Given the description of an element on the screen output the (x, y) to click on. 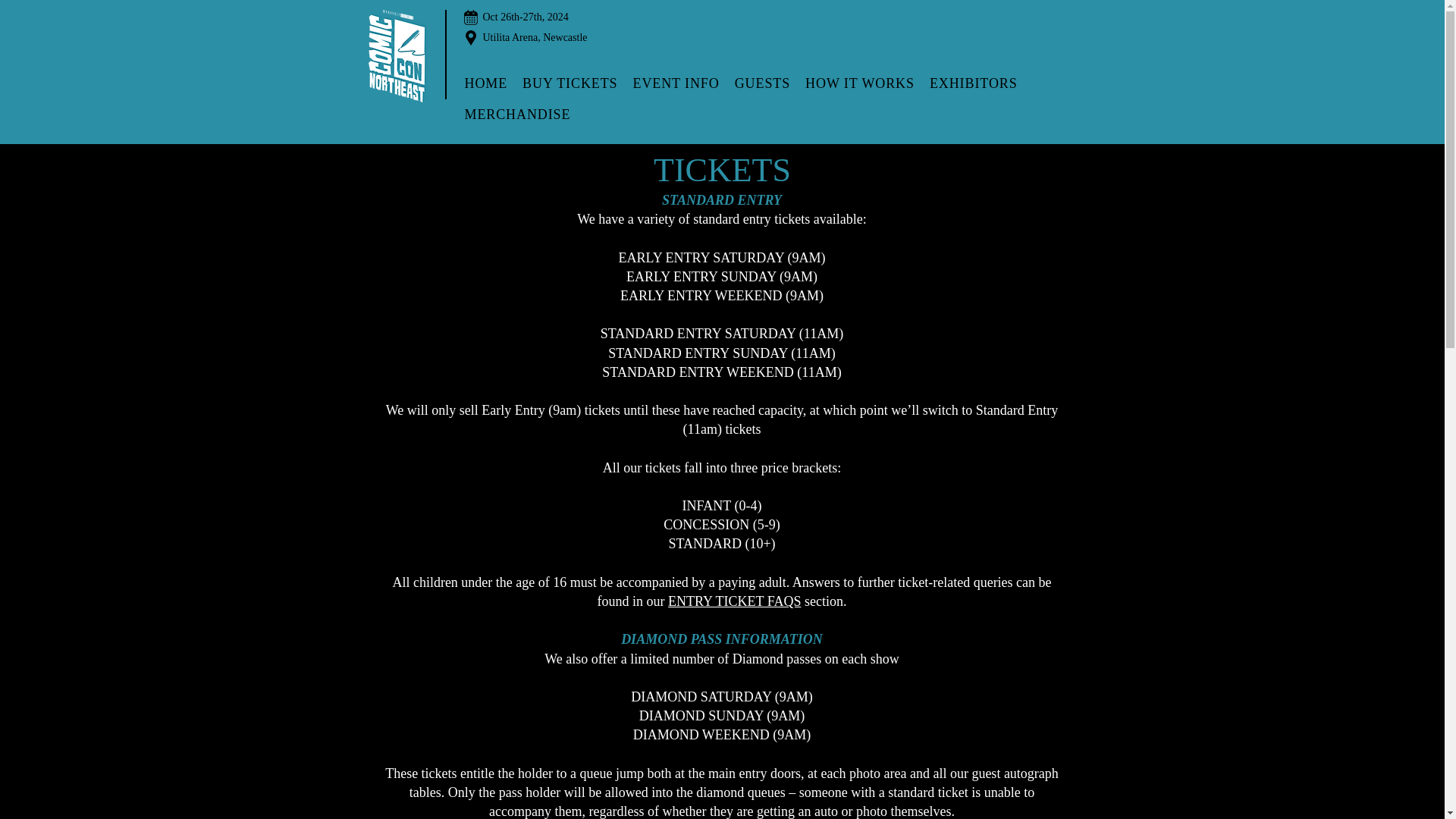
ENTRY TICKET FAQS (734, 601)
HOME (486, 83)
GUESTS (761, 83)
